Given the description of an element on the screen output the (x, y) to click on. 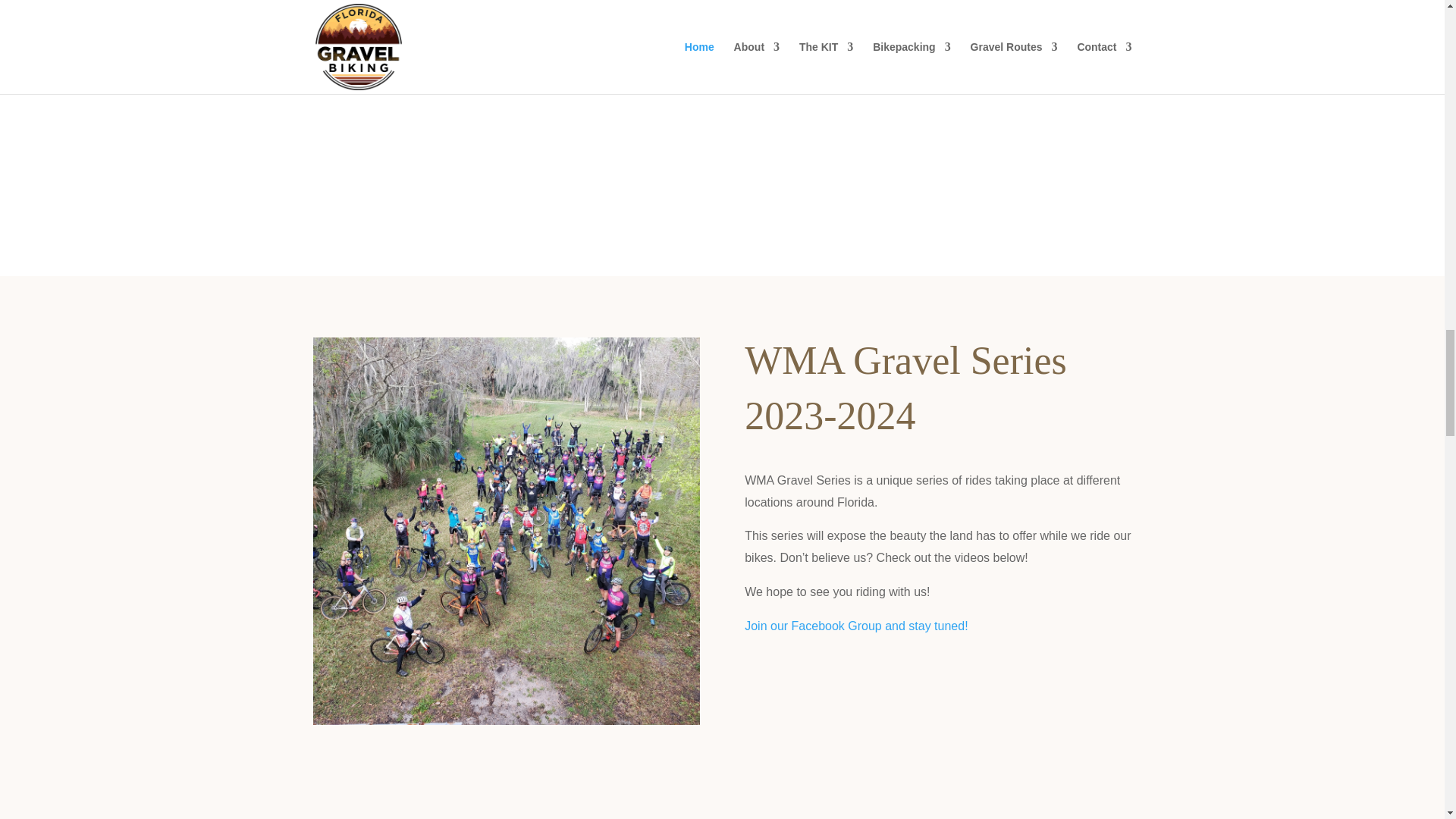
Image00104 (937, 739)
